Given the description of an element on the screen output the (x, y) to click on. 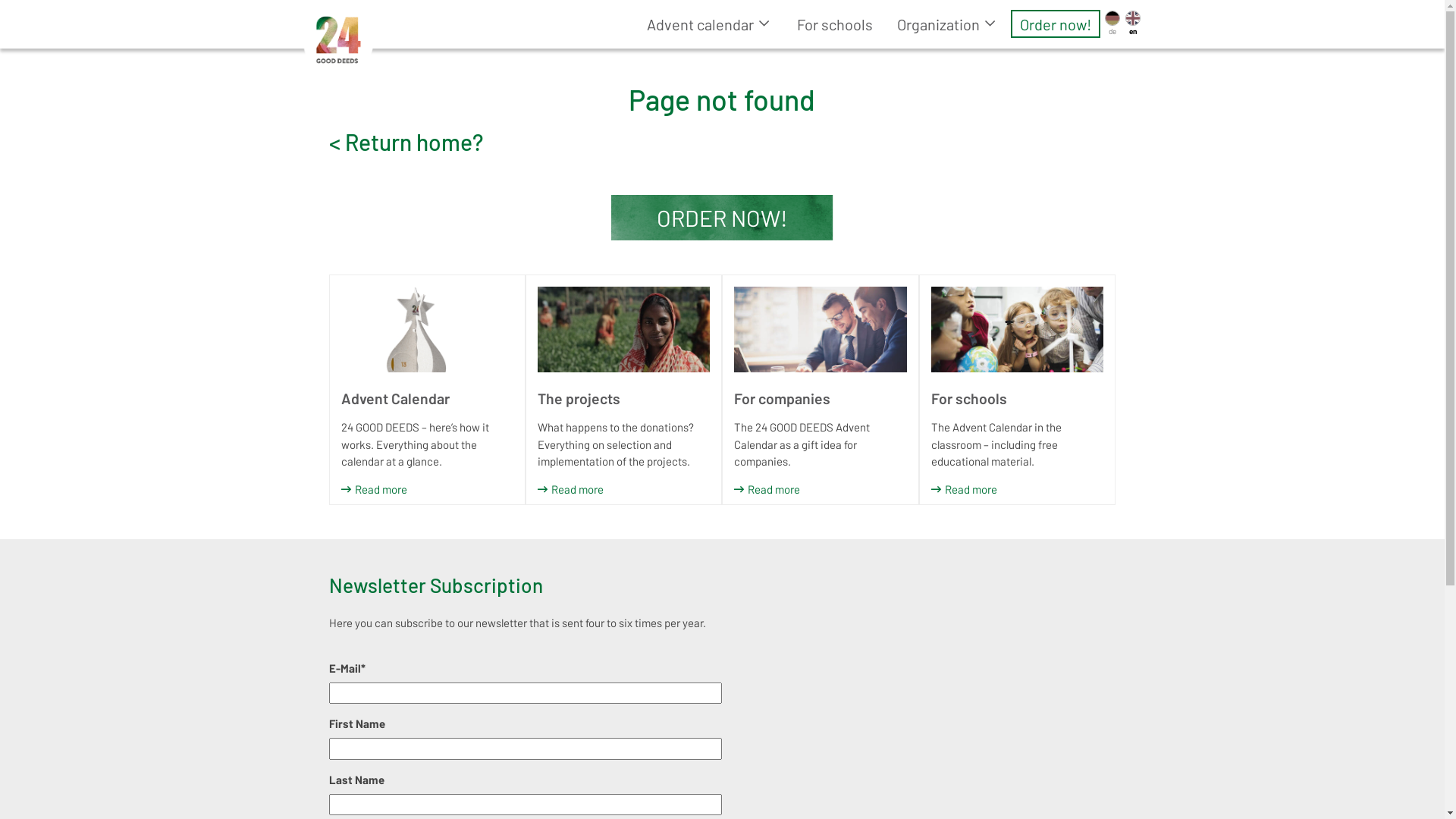
Advent calendar Element type: text (709, 24)
de Element type: text (1111, 23)
< Return home? Element type: text (406, 140)
For schools Element type: text (834, 24)
Order now! Element type: text (1055, 23)
Read more Element type: text (767, 489)
Read more Element type: text (570, 489)
Read more Element type: text (964, 489)
en Element type: text (1132, 23)
ORDER NOW! Element type: text (722, 217)
Read more Element type: text (374, 489)
Organization Element type: text (947, 24)
